Given the description of an element on the screen output the (x, y) to click on. 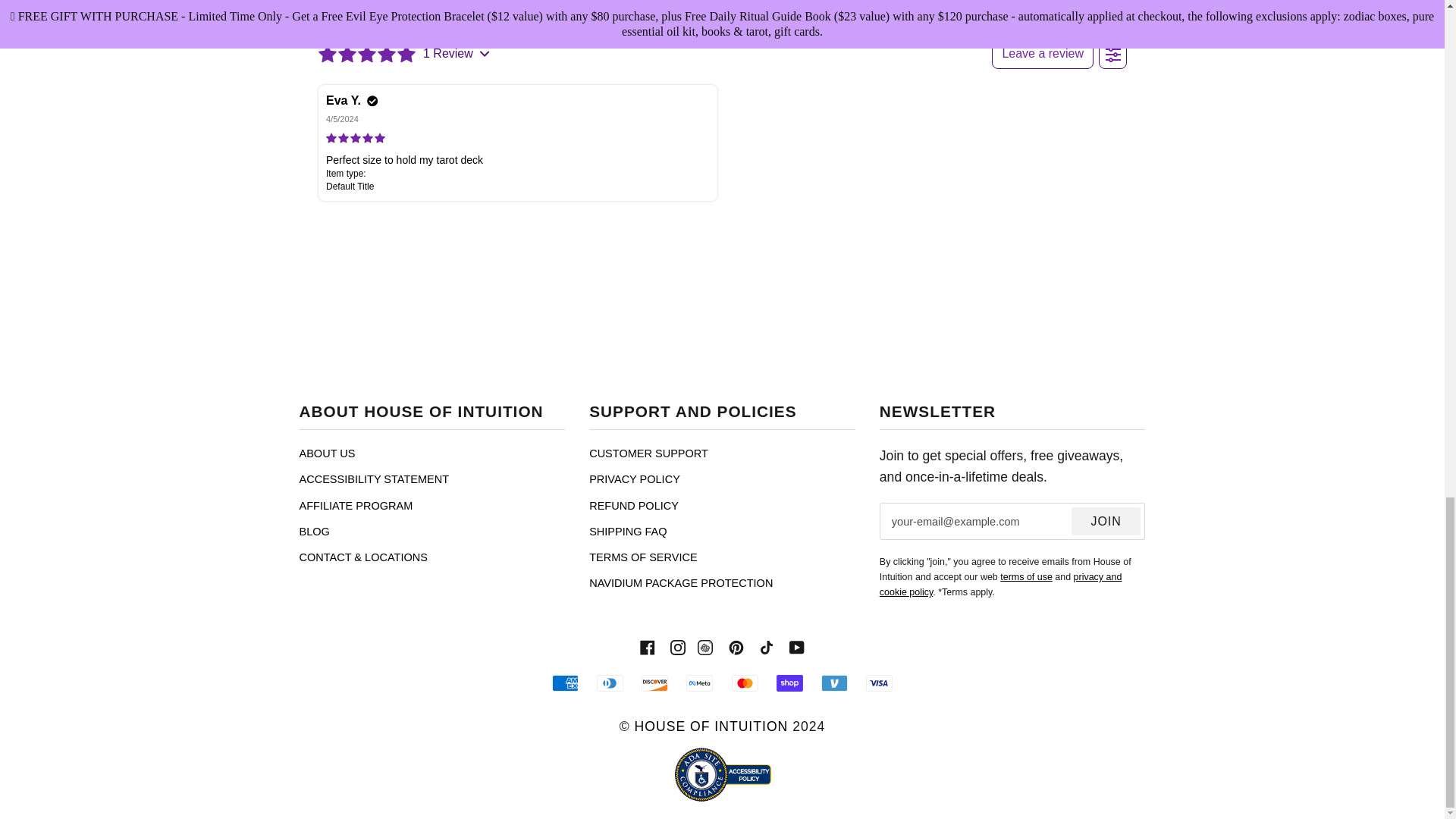
Pinterest (735, 646)
Facebook (647, 646)
Instagram (677, 646)
Privacy Policy (1000, 584)
YouTube (797, 646)
Tiktok (766, 646)
Terms of Service (1026, 576)
